Given the description of an element on the screen output the (x, y) to click on. 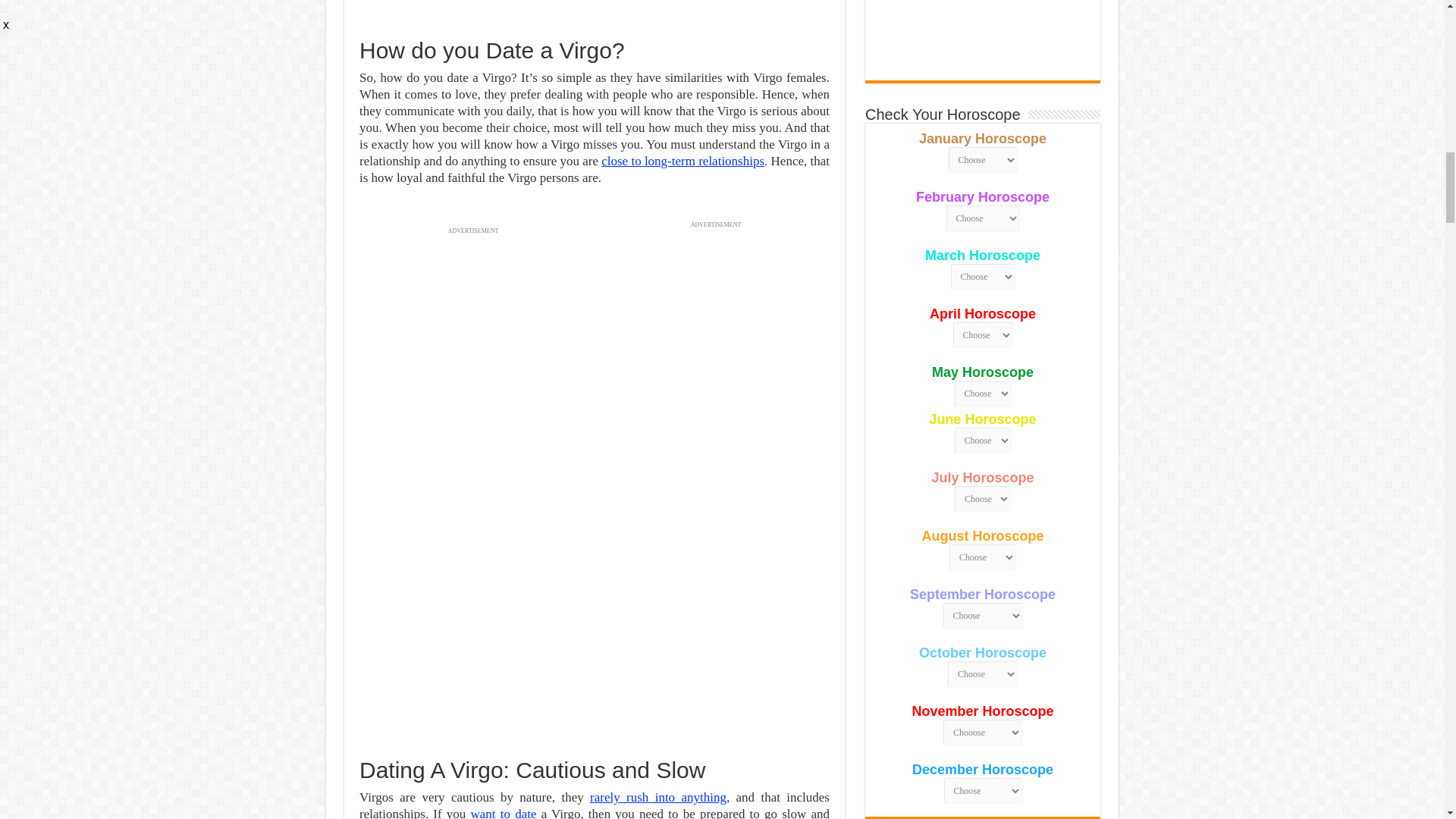
want to date (503, 812)
rarely rush into anything (657, 797)
close to long-term relationships (682, 160)
